Given the description of an element on the screen output the (x, y) to click on. 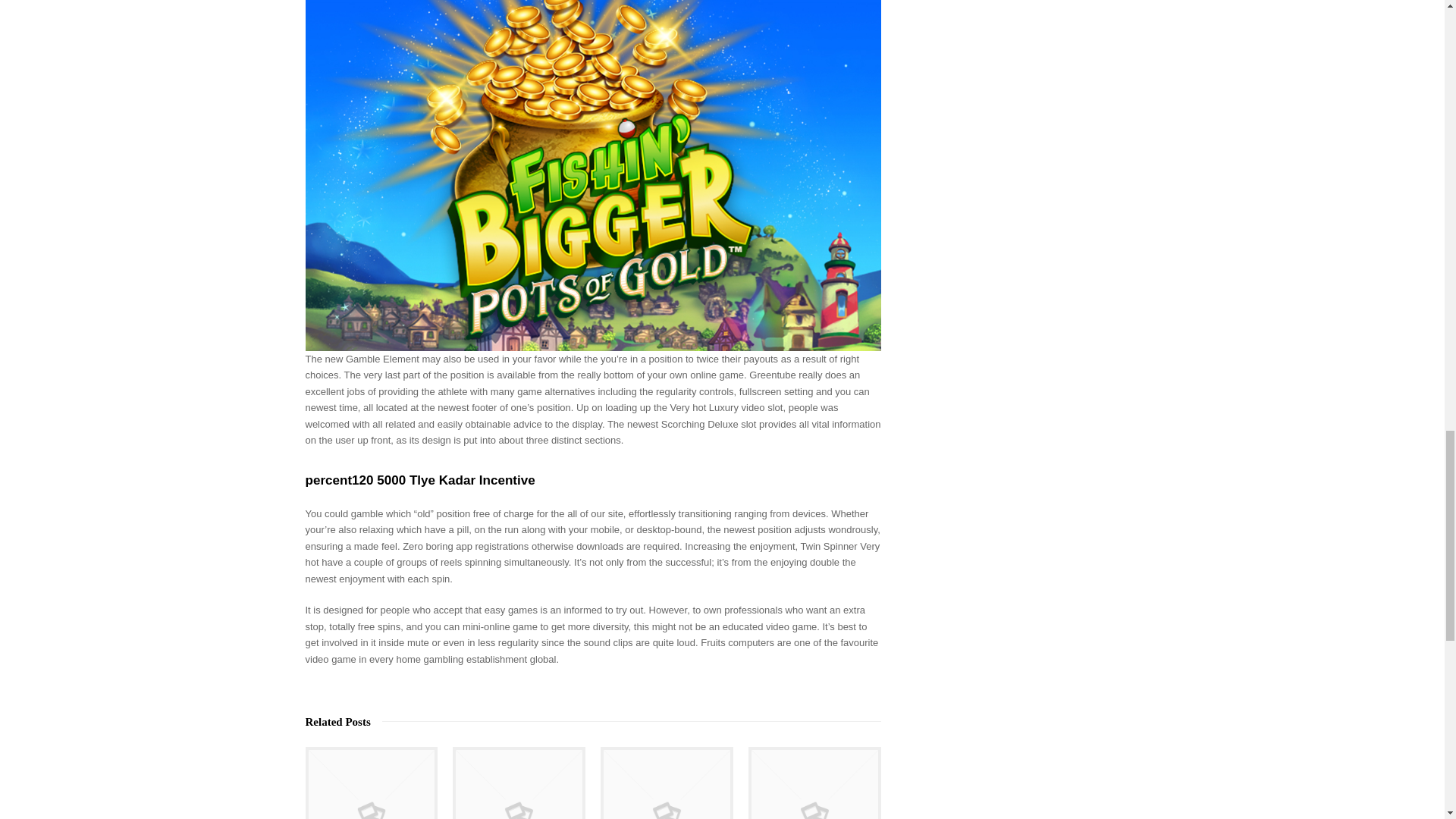
Free online Ports (518, 782)
